Given the description of an element on the screen output the (x, y) to click on. 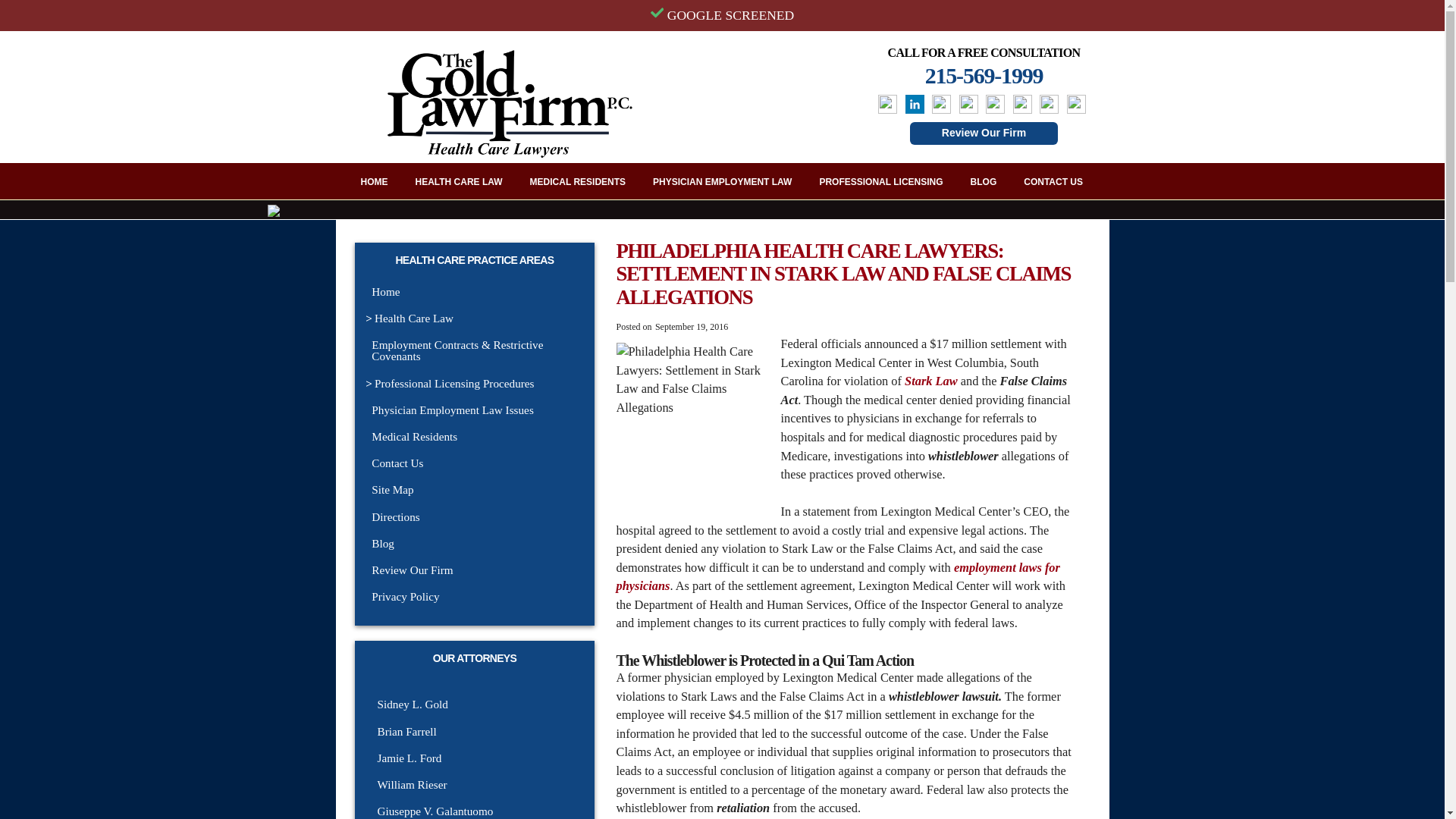
Stark Law (930, 380)
CONTACT US (1053, 180)
BLOG (983, 180)
215-569-1999 (983, 75)
Philadelphia Health Care Lawyers (691, 419)
PHYSICIAN EMPLOYMENT LAW (722, 180)
Click to Review Our Law Firm (983, 146)
HEALTH CARE LAW (458, 180)
